Given the description of an element on the screen output the (x, y) to click on. 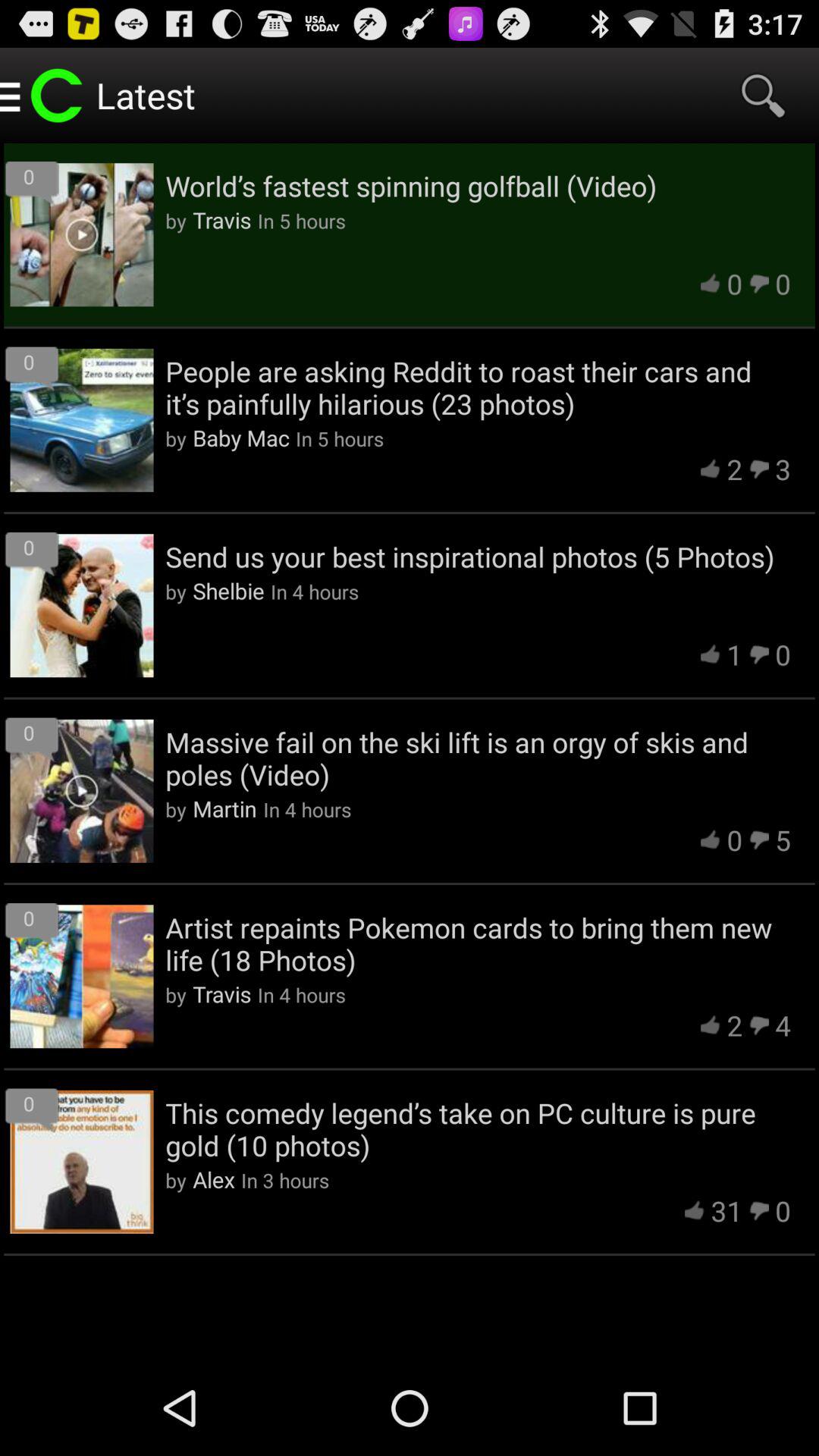
choose app next to the in 4 hours (228, 590)
